Given the description of an element on the screen output the (x, y) to click on. 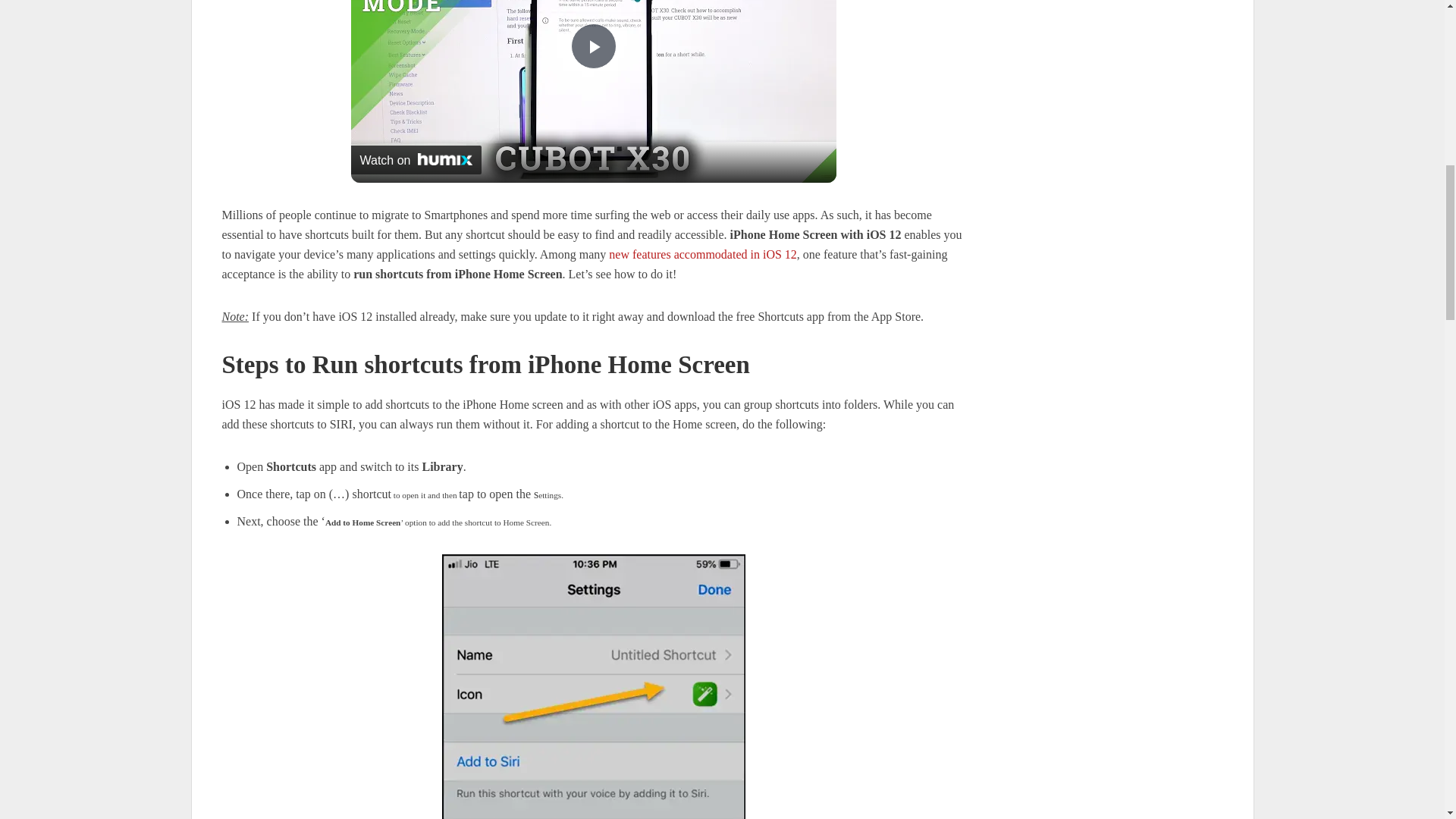
Play Video (592, 45)
run shortcuts from iPhone Home Screen (592, 686)
Play Video (592, 45)
